Given the description of an element on the screen output the (x, y) to click on. 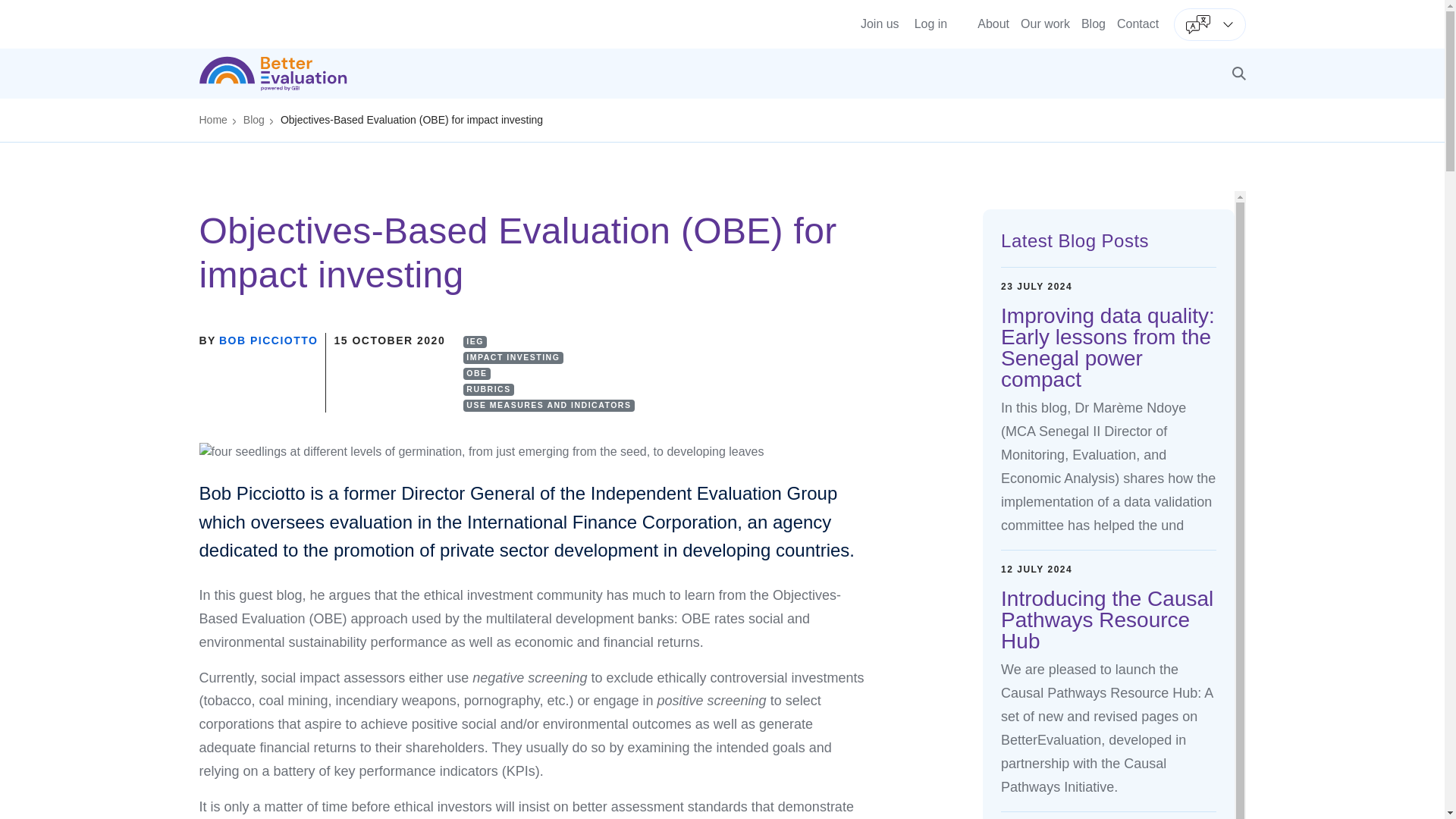
Our work (1045, 23)
Skip to main content (722, 5)
Log in (930, 24)
Contact (1137, 23)
Blog (1093, 23)
Join us (879, 24)
About (992, 23)
